Given the description of an element on the screen output the (x, y) to click on. 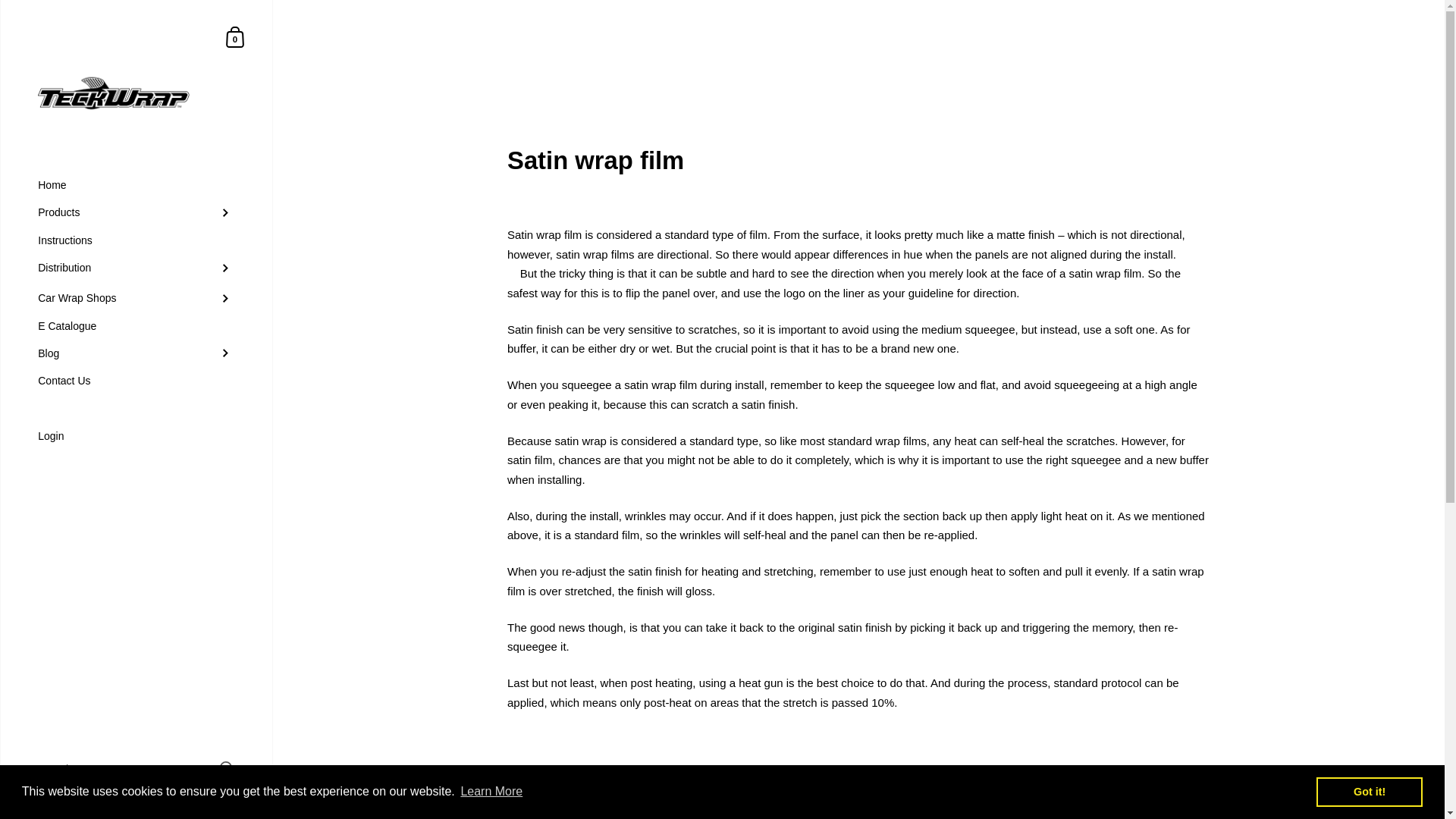
Home (136, 185)
Got it! (1369, 791)
Learn More (491, 791)
Instructions (136, 240)
Distribution (136, 268)
Car Wrap Shops (136, 298)
Shopping Cart (235, 35)
Products (136, 213)
